Given the description of an element on the screen output the (x, y) to click on. 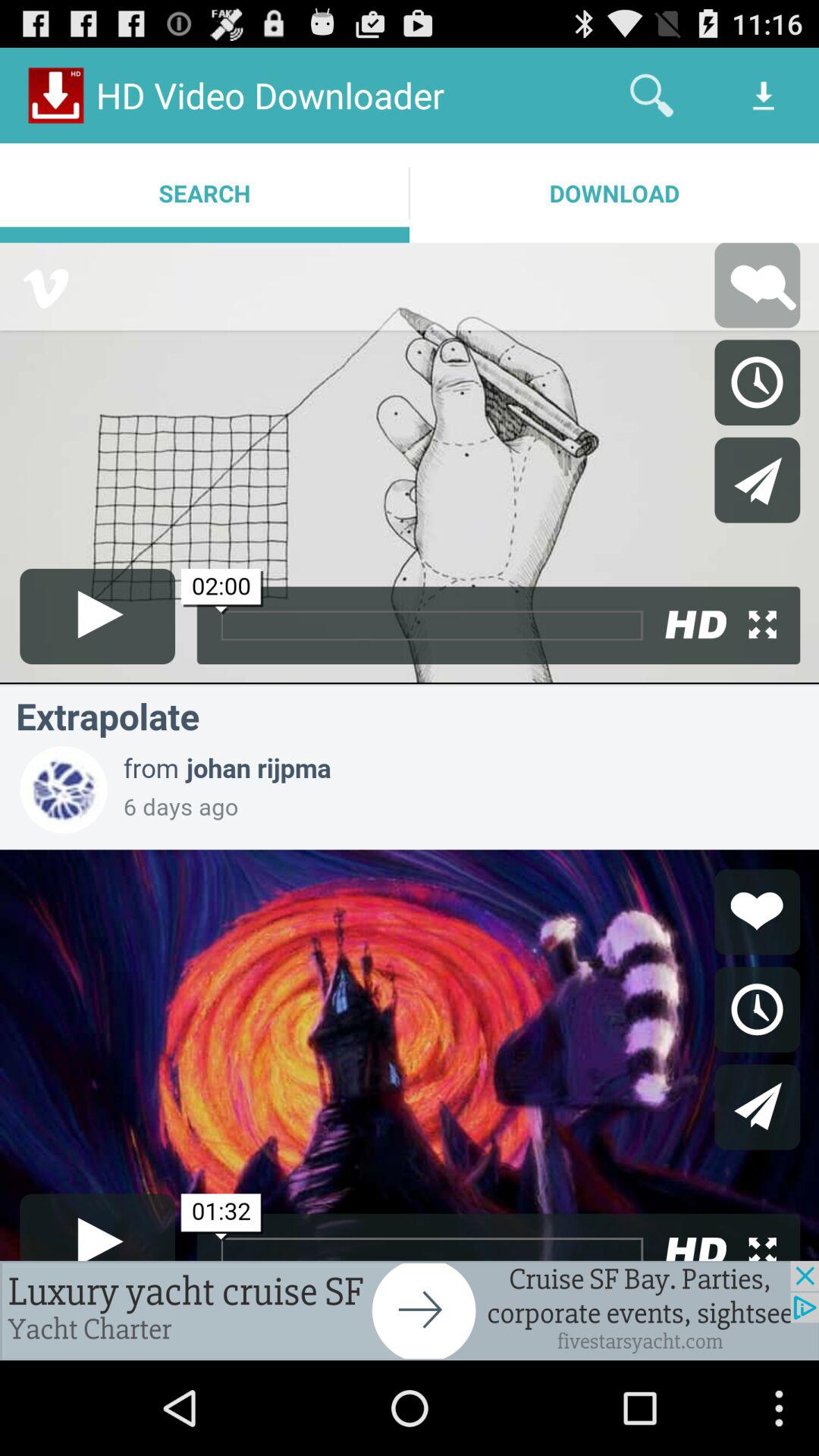
press the item next to the hd video downloader item (651, 95)
